Given the description of an element on the screen output the (x, y) to click on. 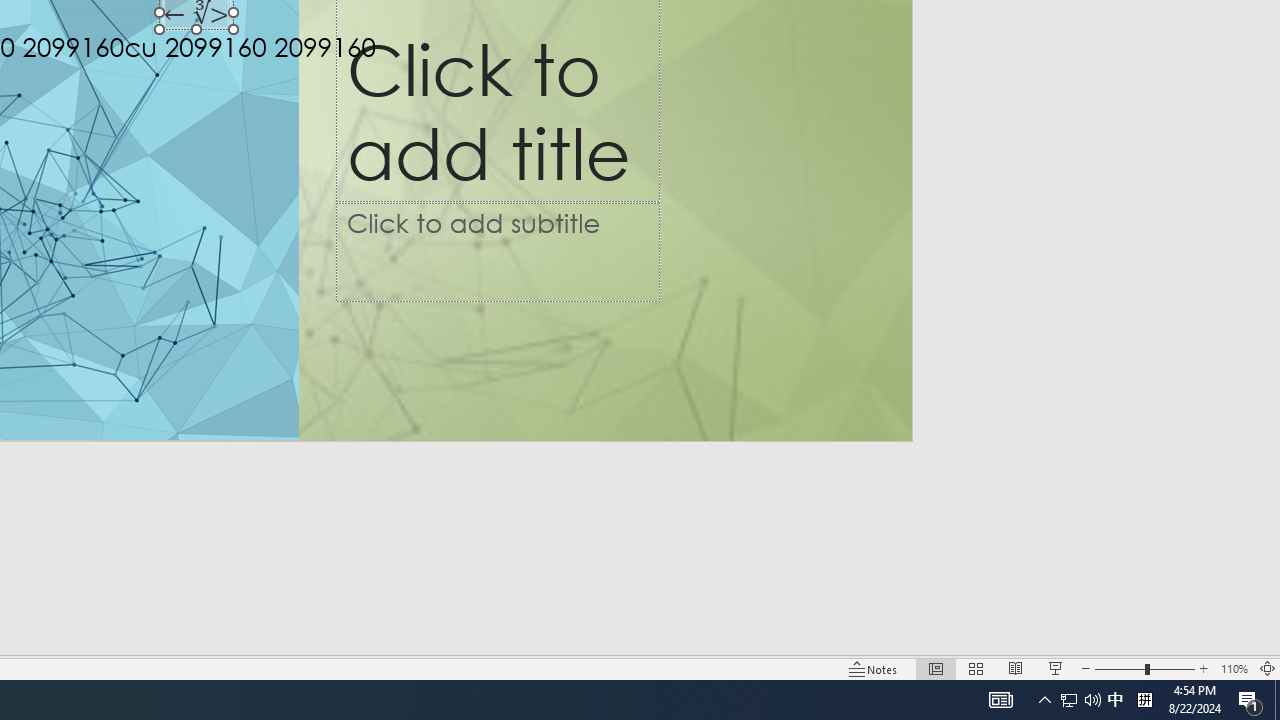
Zoom 110% (1234, 668)
